Given the description of an element on the screen output the (x, y) to click on. 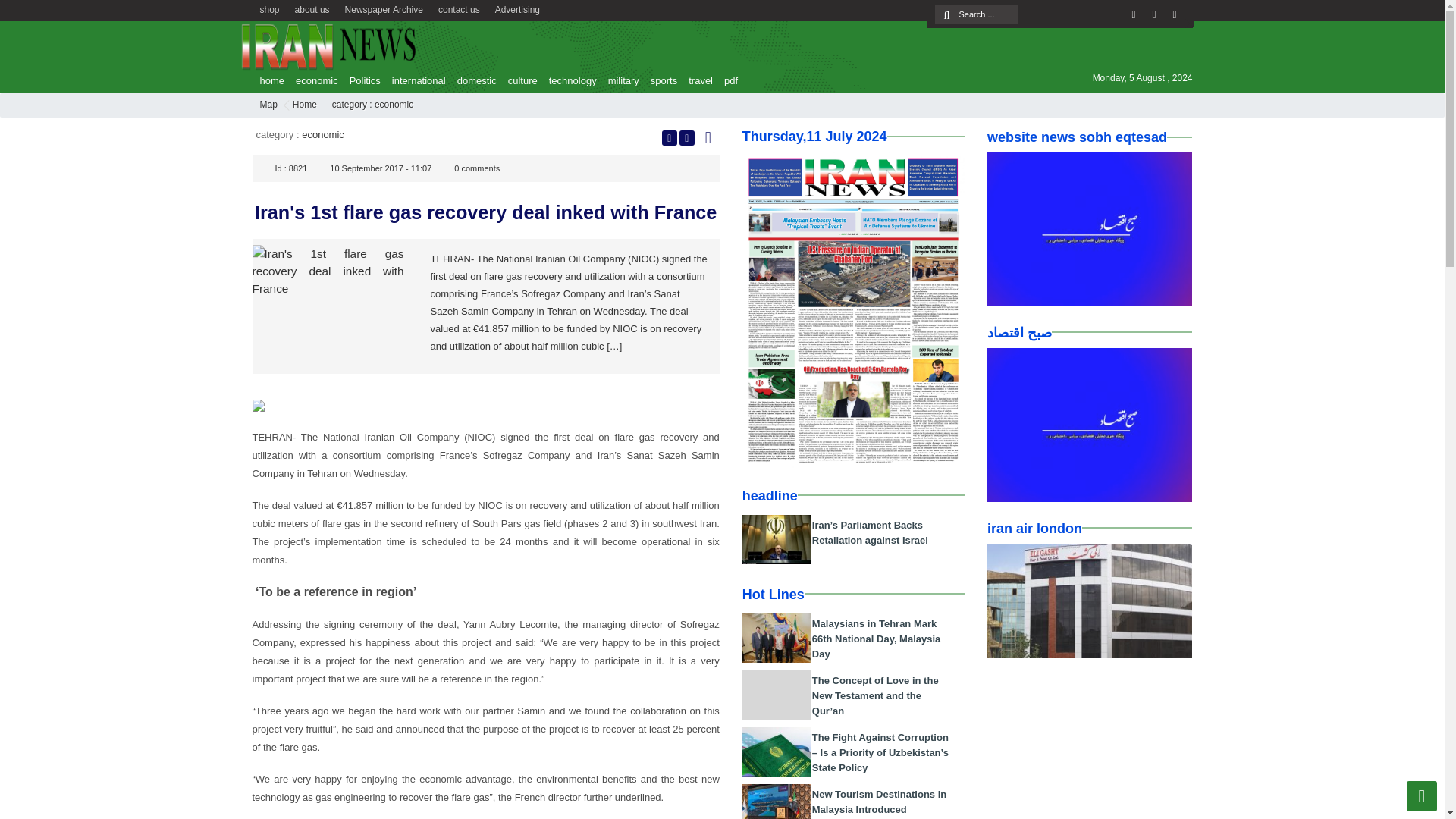
sports (660, 80)
shop (268, 7)
home (267, 80)
Iran's 1st flare gas recovery deal inked with France (327, 295)
contact us (458, 7)
Politics (361, 80)
economic (312, 80)
Home (304, 104)
military (619, 80)
travel (697, 80)
